Given the description of an element on the screen output the (x, y) to click on. 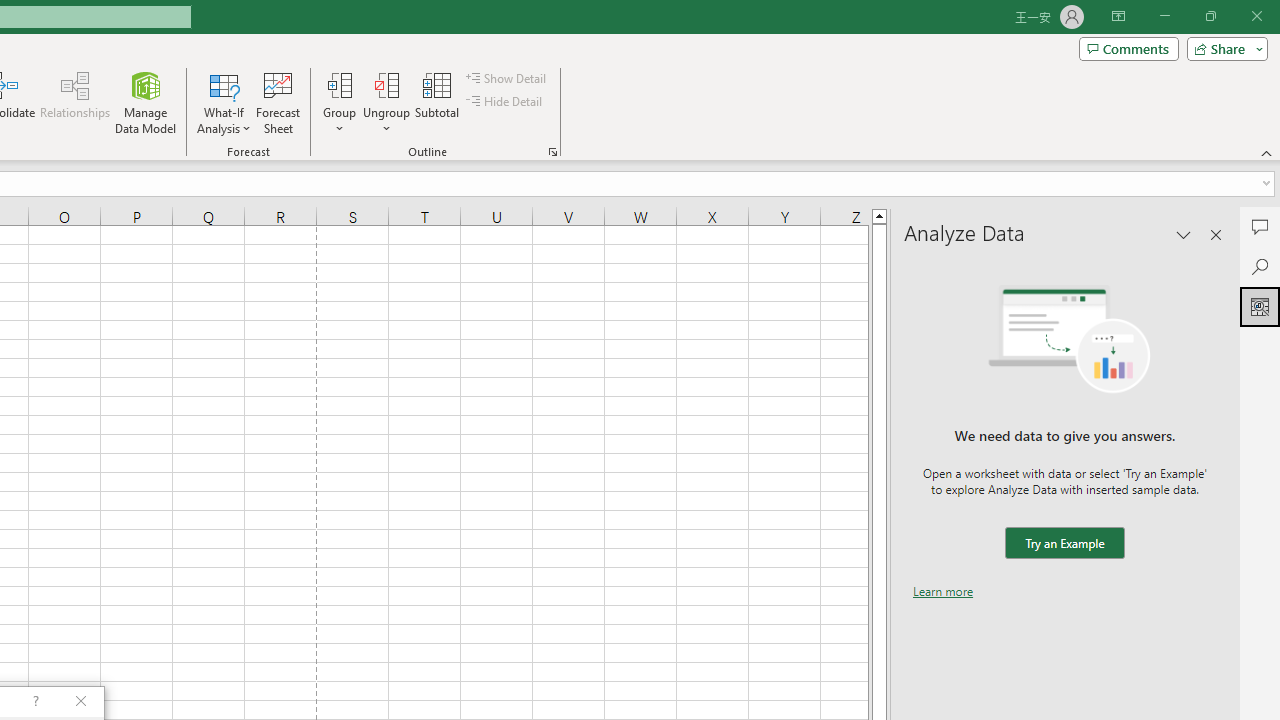
Group and Outline Settings (552, 151)
What-If Analysis (223, 102)
Ungroup... (386, 102)
Group... (339, 102)
Manage Data Model (145, 102)
Search (1260, 266)
Analyze Data (1260, 306)
Show Detail (507, 78)
Learn more (943, 591)
Restore Down (1210, 16)
